Given the description of an element on the screen output the (x, y) to click on. 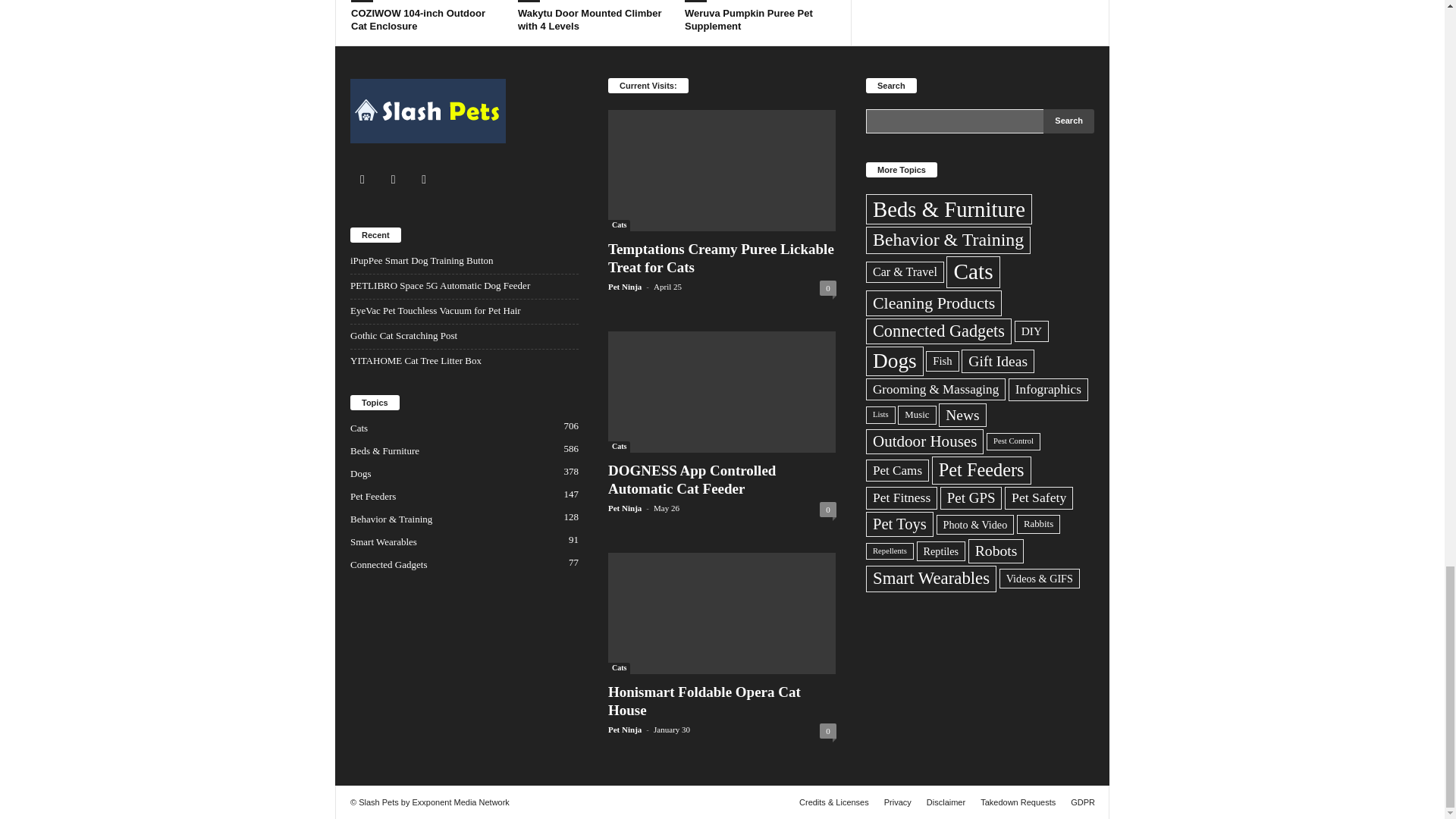
Search (1068, 120)
